Given the description of an element on the screen output the (x, y) to click on. 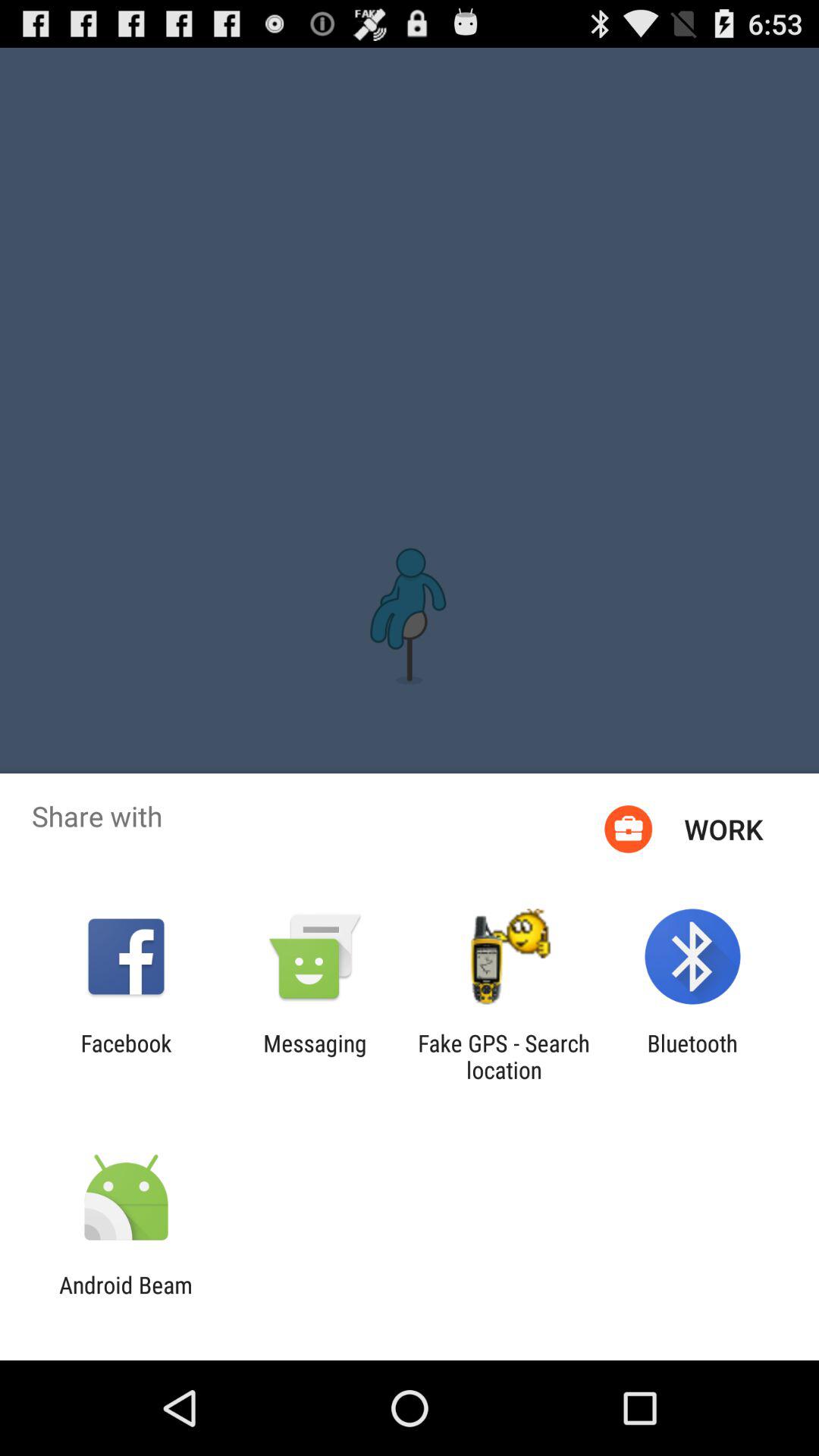
open app to the left of the bluetooth icon (503, 1056)
